Given the description of an element on the screen output the (x, y) to click on. 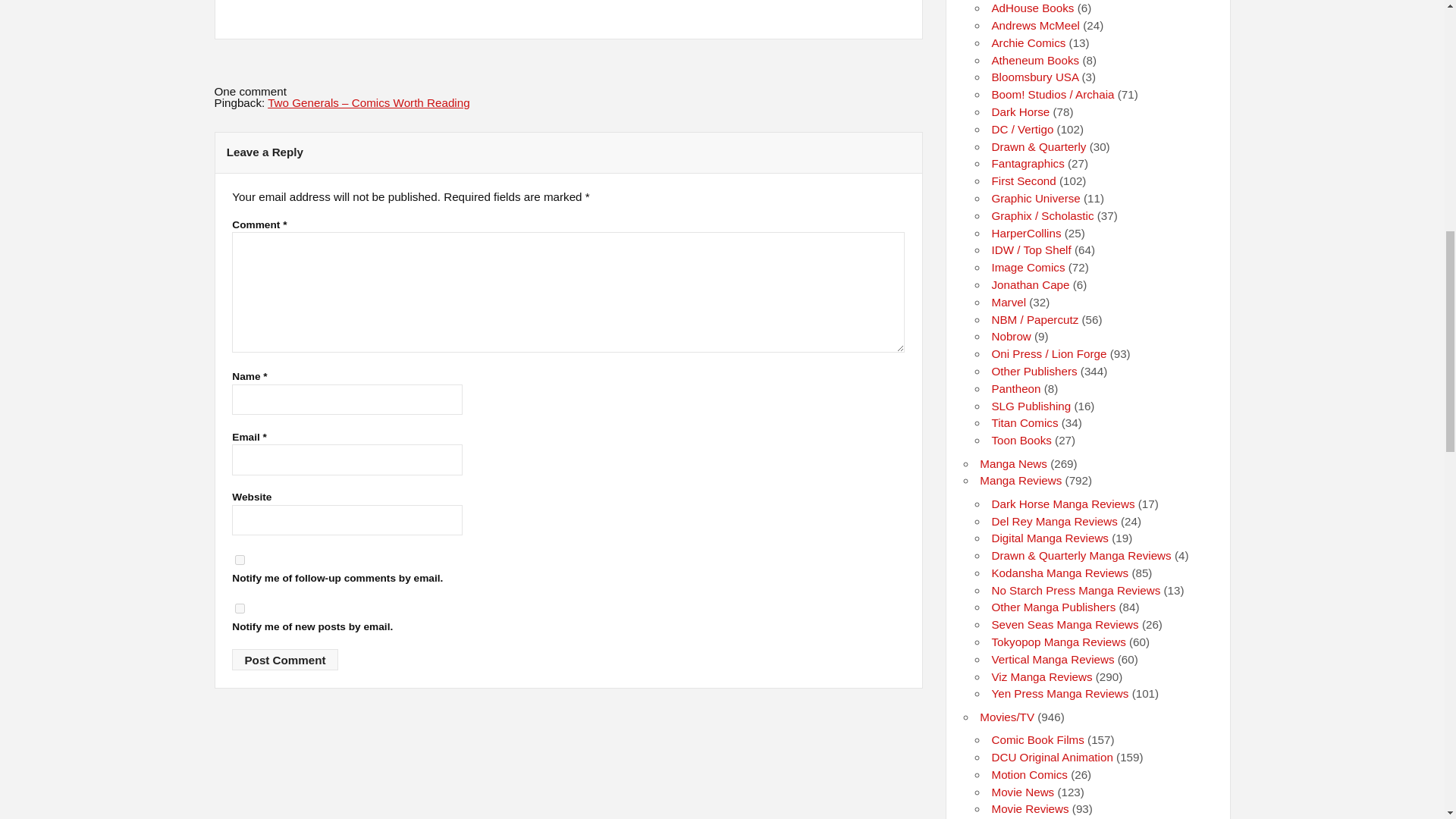
subscribe (239, 560)
Post Comment (284, 659)
subscribe (239, 608)
Post Comment (284, 659)
